Given the description of an element on the screen output the (x, y) to click on. 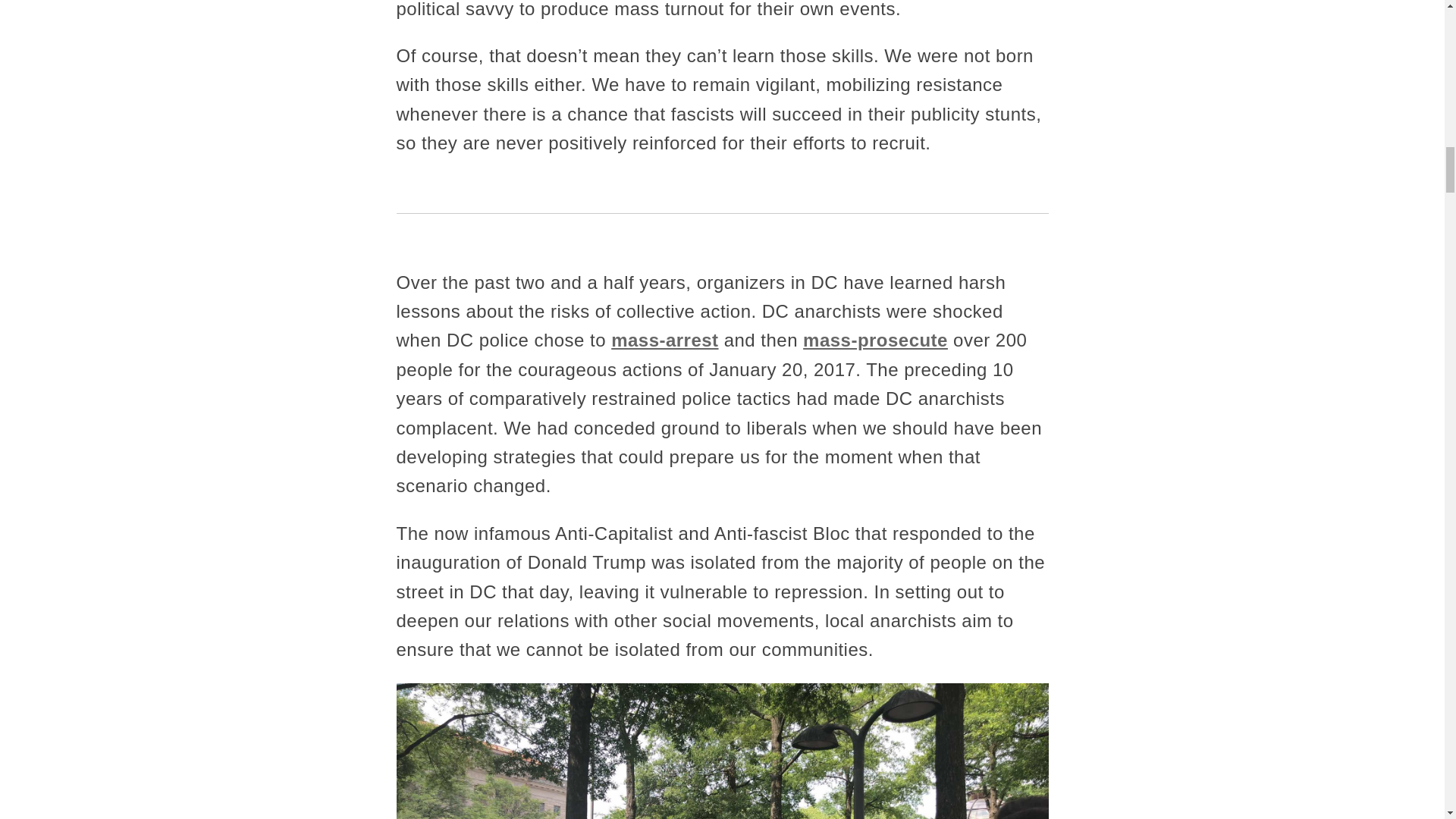
mass-arrest (664, 340)
mass-prosecute (875, 340)
